Given the description of an element on the screen output the (x, y) to click on. 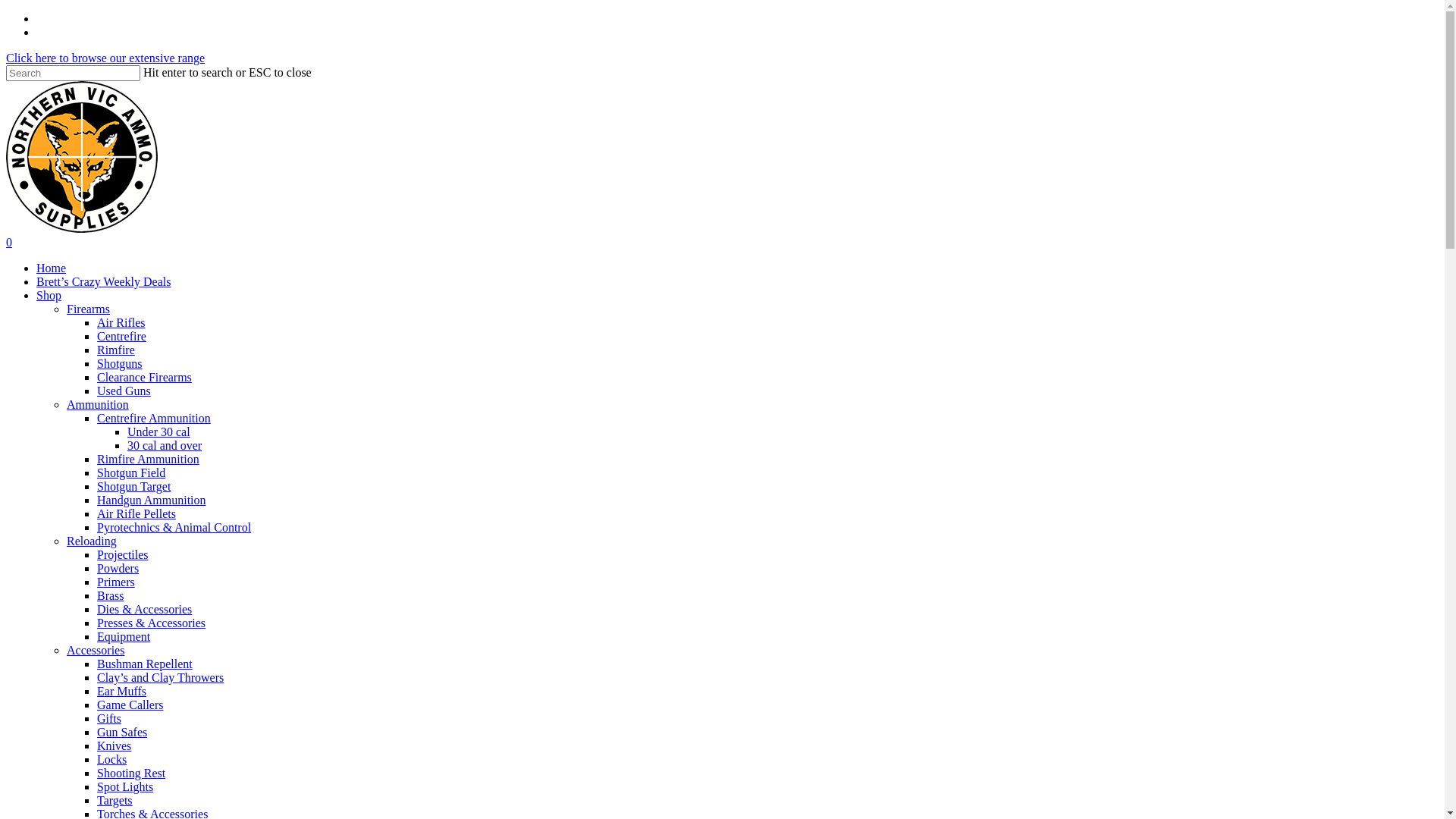
Shooting Rest Element type: text (131, 772)
Primers Element type: text (115, 581)
Shotguns Element type: text (119, 363)
Presses & Accessories Element type: text (151, 622)
Rimfire Ammunition Element type: text (148, 458)
Home Element type: text (50, 267)
Dies & Accessories Element type: text (144, 608)
Ammunition Element type: text (97, 404)
30 cal and over Element type: text (164, 445)
Accessories Element type: text (95, 649)
Shop Element type: text (48, 294)
Targets Element type: text (114, 799)
Centrefire Ammunition Element type: text (153, 417)
Pyrotechnics & Animal Control Element type: text (174, 526)
Reloading Element type: text (91, 540)
Bushman Repellent Element type: text (144, 663)
Gun Safes Element type: text (122, 731)
Equipment Element type: text (123, 636)
Rimfire Element type: text (115, 349)
Firearms Element type: text (87, 308)
Locks Element type: text (111, 759)
Air Rifle Pellets Element type: text (136, 513)
Click here to browse our extensive range Element type: text (105, 57)
Projectiles Element type: text (122, 554)
Game Callers Element type: text (130, 704)
Under 30 cal Element type: text (158, 431)
Ear Muffs Element type: text (121, 690)
Shotgun Field Element type: text (131, 472)
Shotgun Target Element type: text (133, 486)
Skip to main content Element type: text (5, 11)
Powders Element type: text (117, 567)
Used Guns Element type: text (123, 390)
Brass Element type: text (110, 595)
Spot Lights Element type: text (125, 786)
Centrefire Element type: text (121, 335)
0 Element type: text (722, 242)
Gifts Element type: text (109, 718)
Handgun Ammunition Element type: text (151, 499)
Clearance Firearms Element type: text (144, 376)
Knives Element type: text (114, 745)
Air Rifles Element type: text (121, 322)
